Given the description of an element on the screen output the (x, y) to click on. 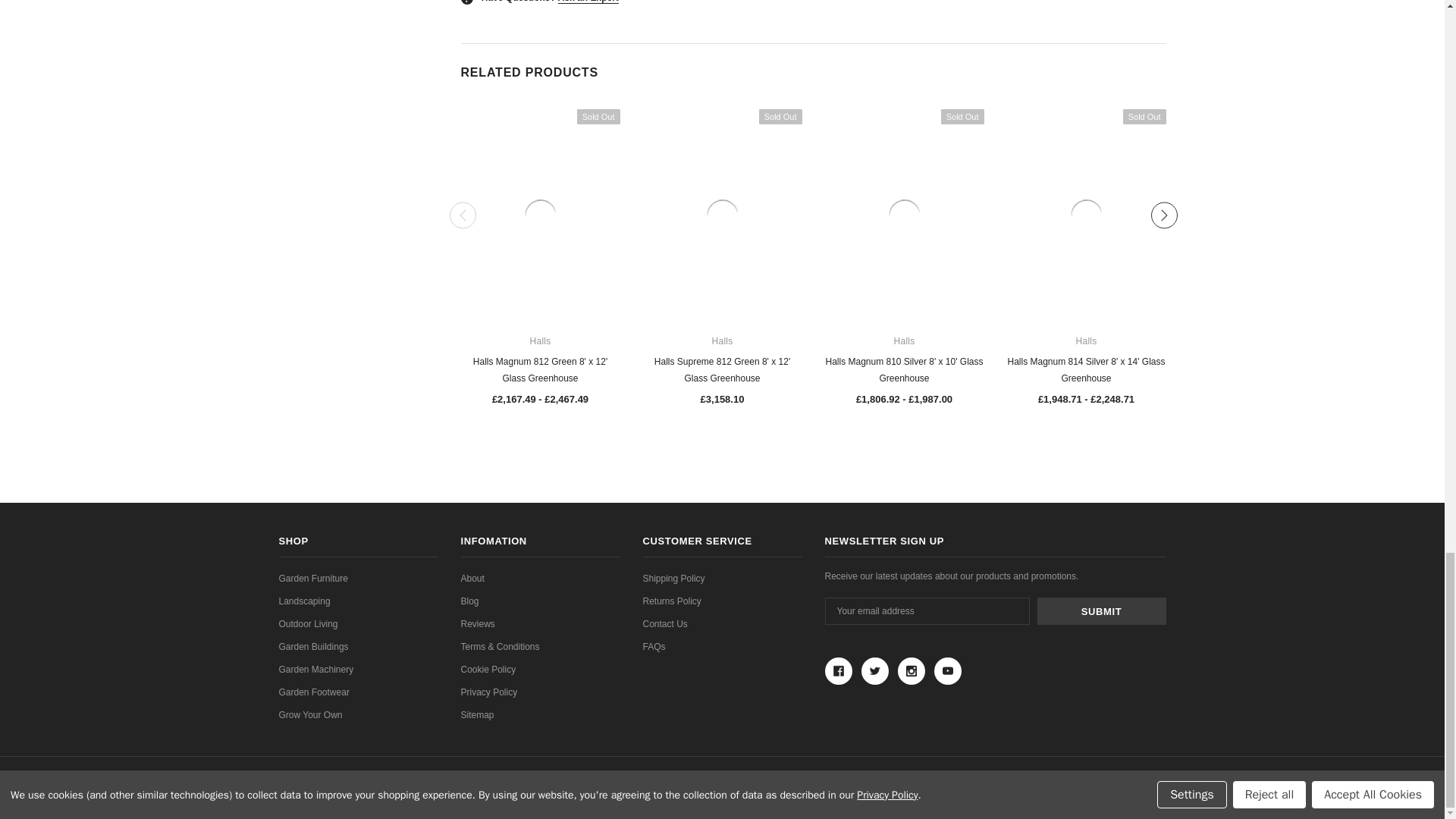
Submit (1101, 610)
Halls Magnum 812 Green 8' x 12' Glass Greenhouse (540, 215)
Halls Supreme 812 Green 8' x 12' Glass Greenhouse (722, 215)
Halls Magnum 810 Silver 8' x 10' Glass Greenhouse (904, 215)
Halls Magnum 814 Silver 8' x 14' Glass Greenhouse (1086, 215)
